Given the description of an element on the screen output the (x, y) to click on. 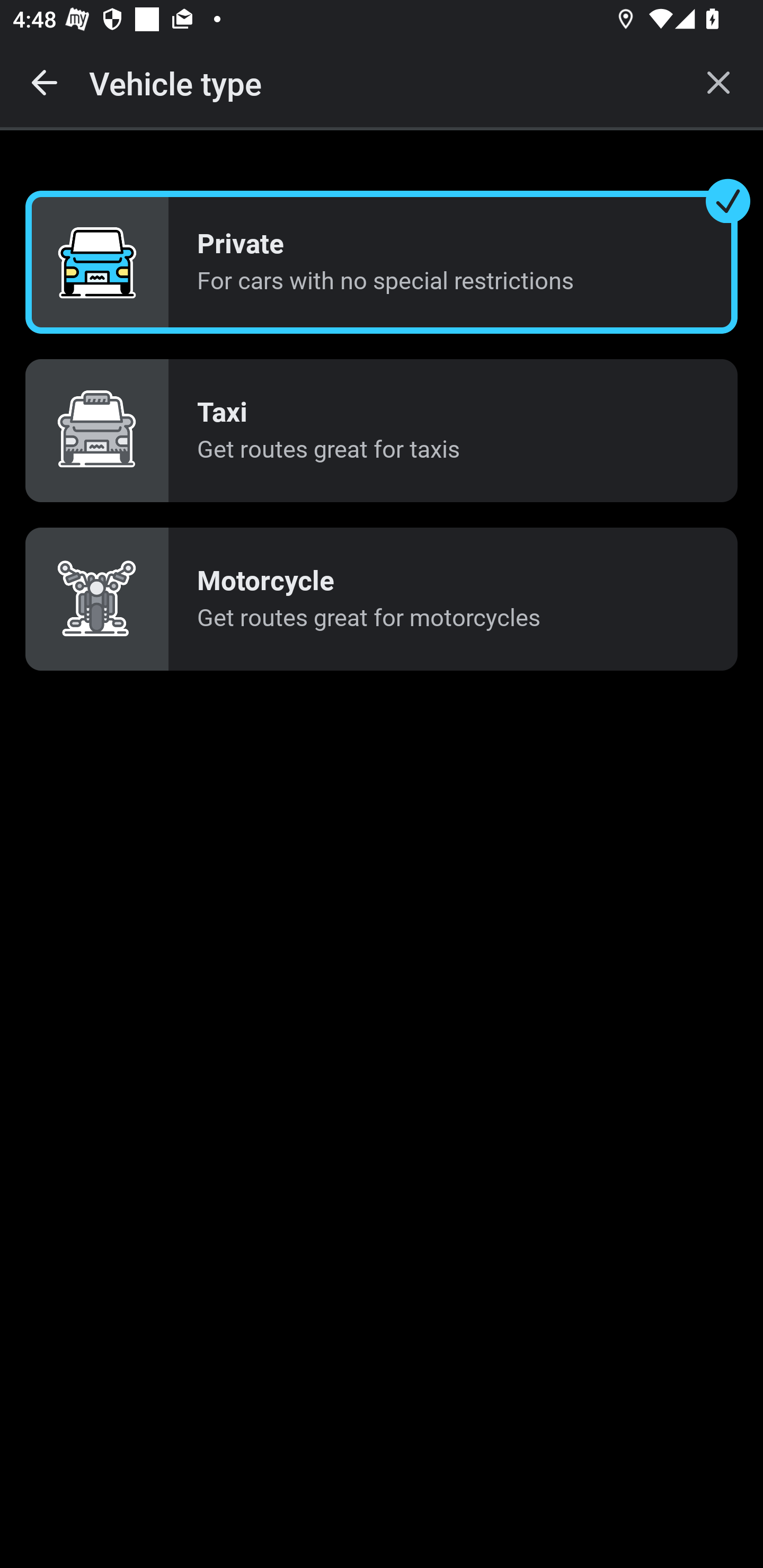
Private For cars with no special restrictions (381, 262)
Taxi Get routes great for taxis (381, 430)
Motorcycle Get routes great for motorcycles (381, 598)
